Given the description of an element on the screen output the (x, y) to click on. 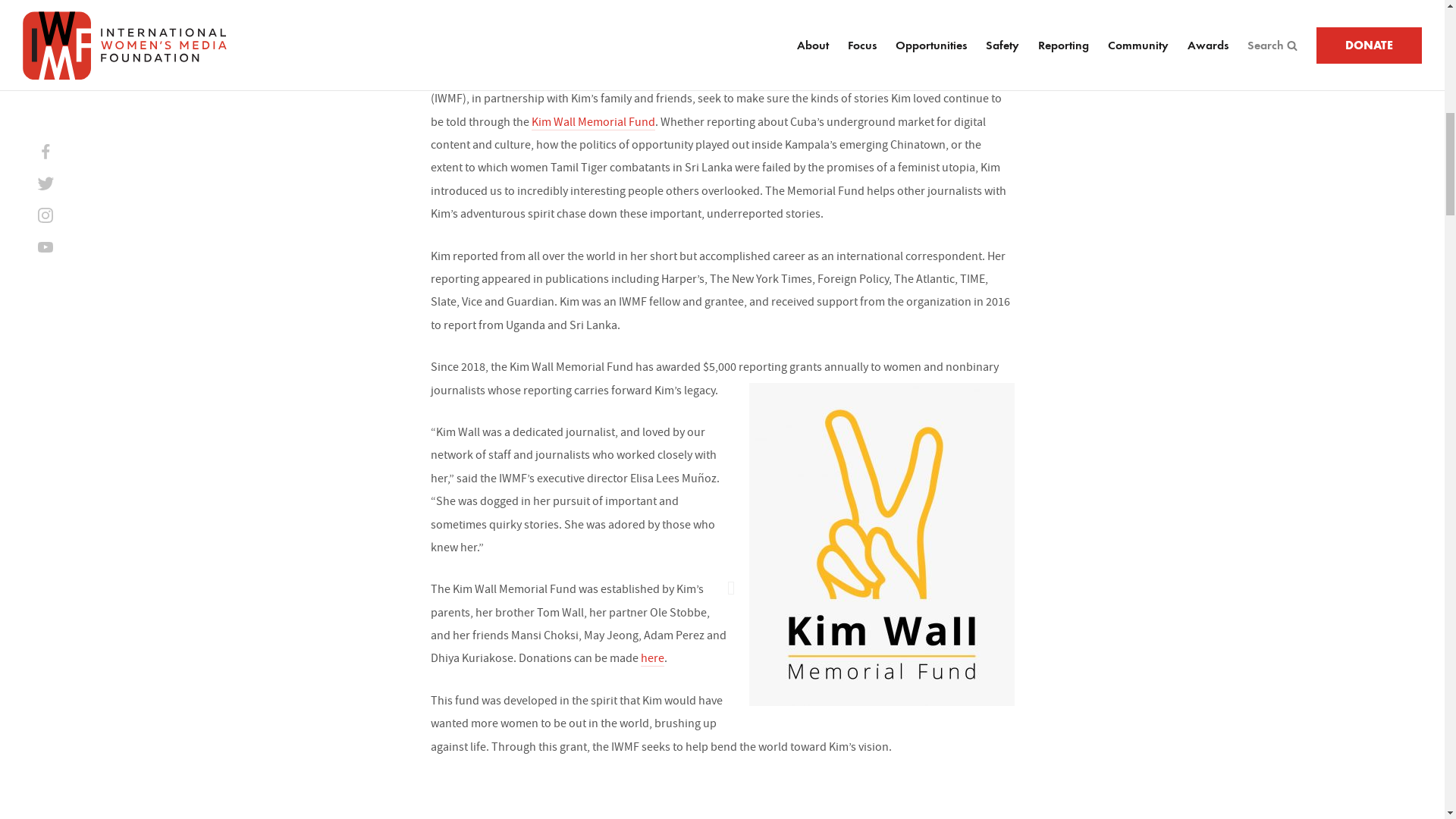
vimeo-player (721, 798)
